Given the description of an element on the screen output the (x, y) to click on. 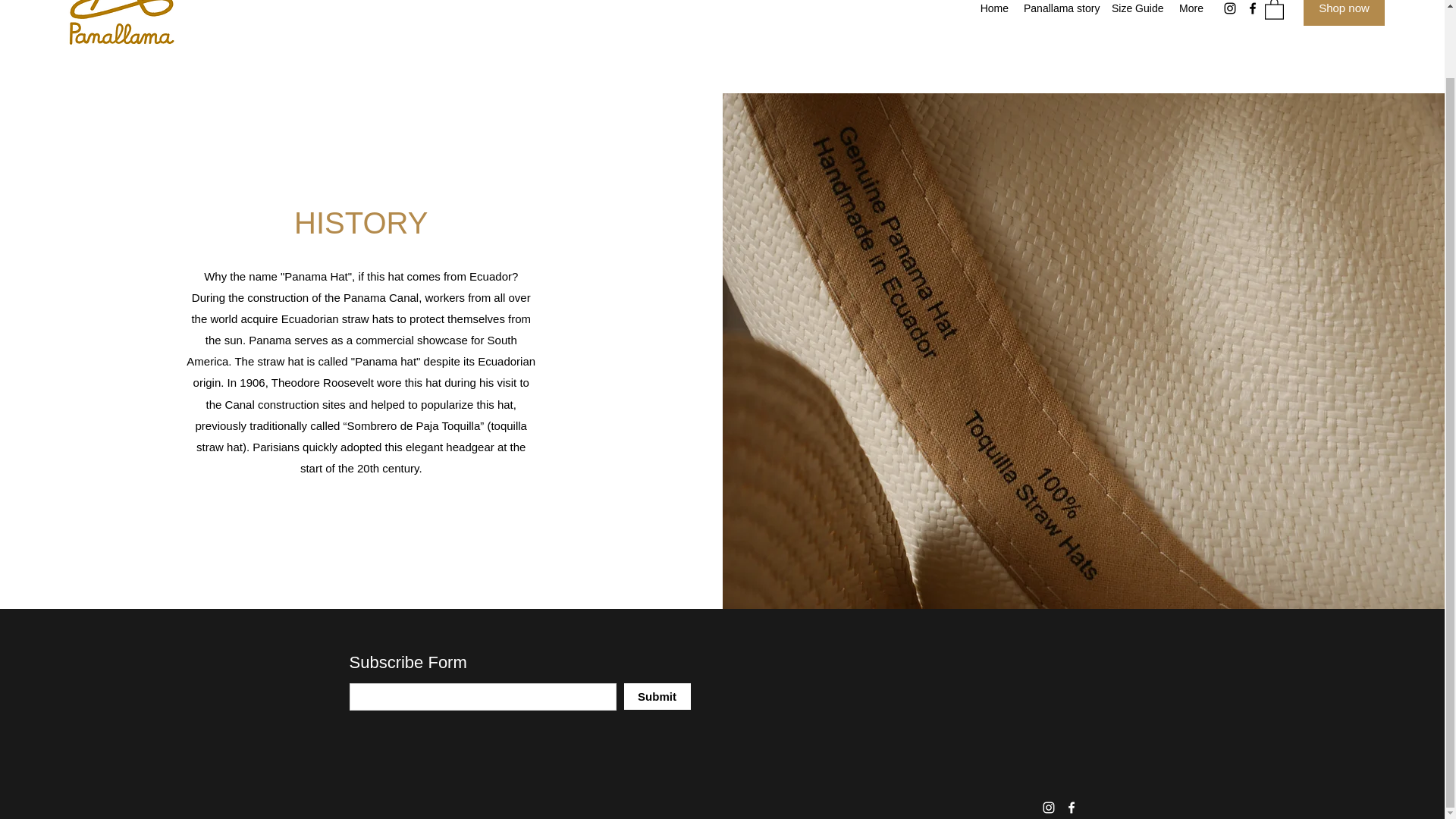
Submit (656, 696)
Panallama story (1059, 9)
Shop now (1343, 12)
Size Guide (1136, 9)
Home (994, 9)
